Given the description of an element on the screen output the (x, y) to click on. 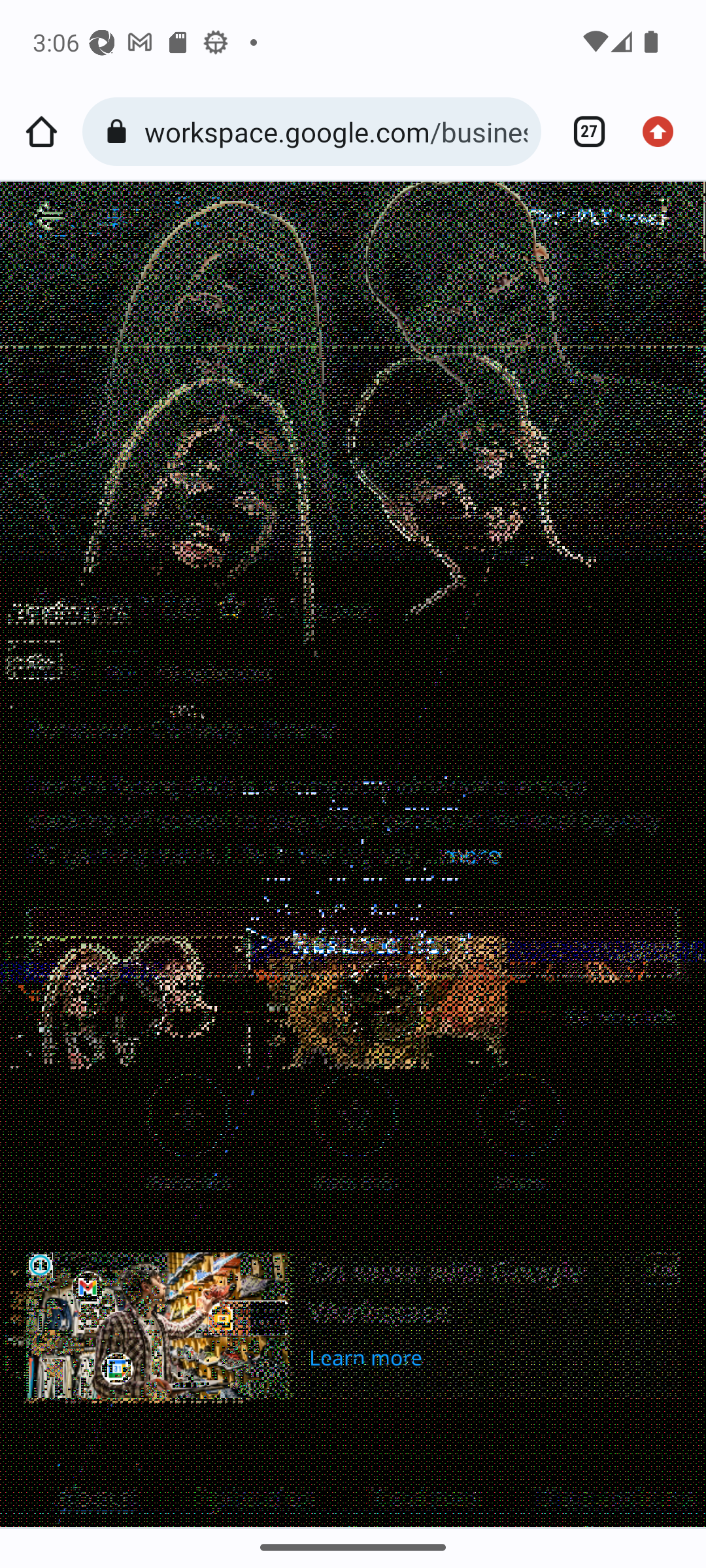
Home (41, 131)
Connection is secure (120, 131)
Switch or close tabs (582, 131)
Update available. More options (664, 131)
